Given the description of an element on the screen output the (x, y) to click on. 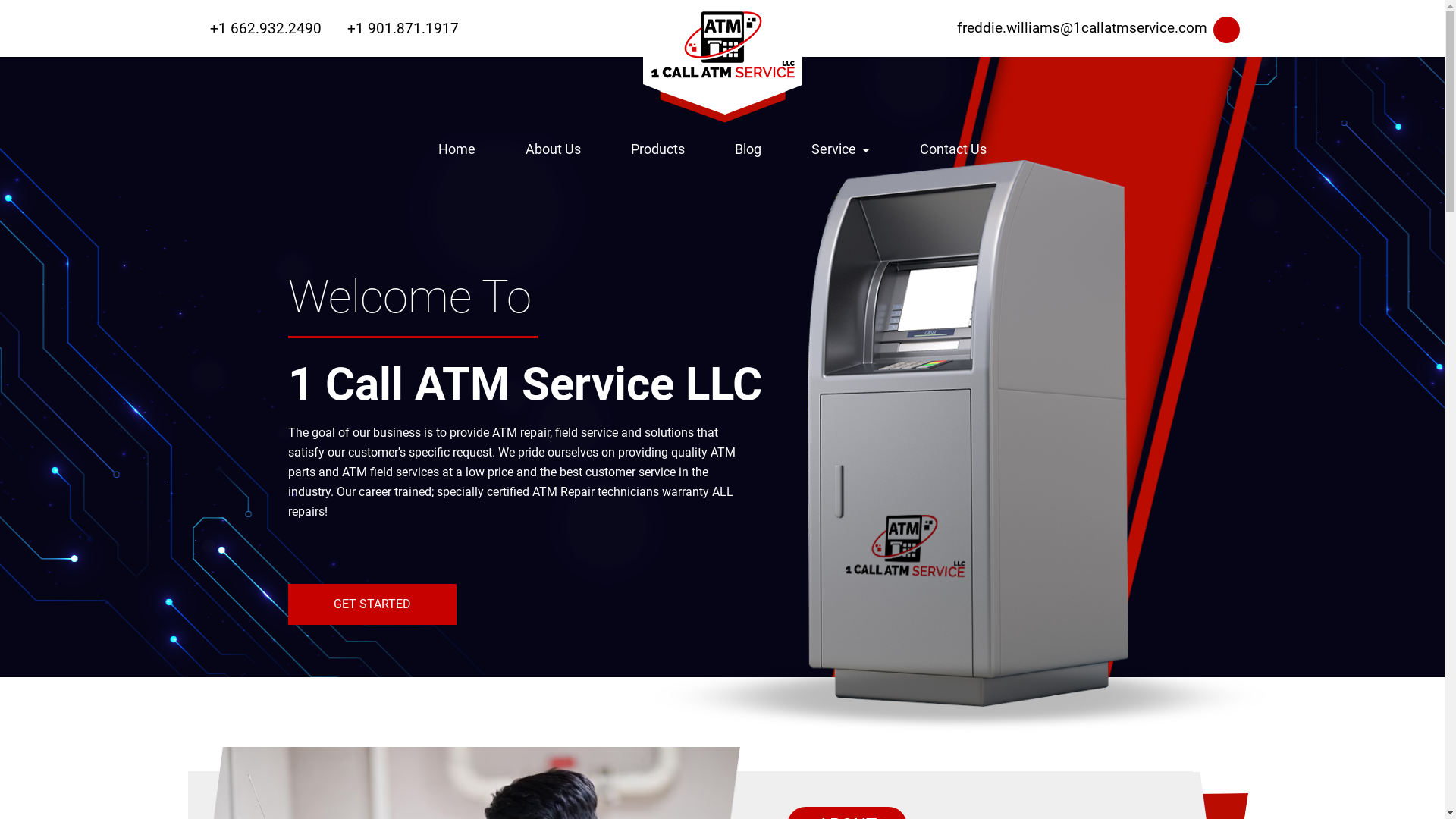
+1 662.932.2490 Element type: text (259, 27)
+1 901.871.1917 Element type: text (397, 27)
Products Element type: text (657, 148)
Contact Us Element type: text (952, 148)
About Us Element type: text (553, 148)
freddie.williams@1callatmservice.com Element type: text (1078, 28)
Blog Element type: text (747, 148)
Service Element type: text (840, 148)
GET STARTED Element type: text (372, 603)
Home Element type: text (456, 148)
